Given the description of an element on the screen output the (x, y) to click on. 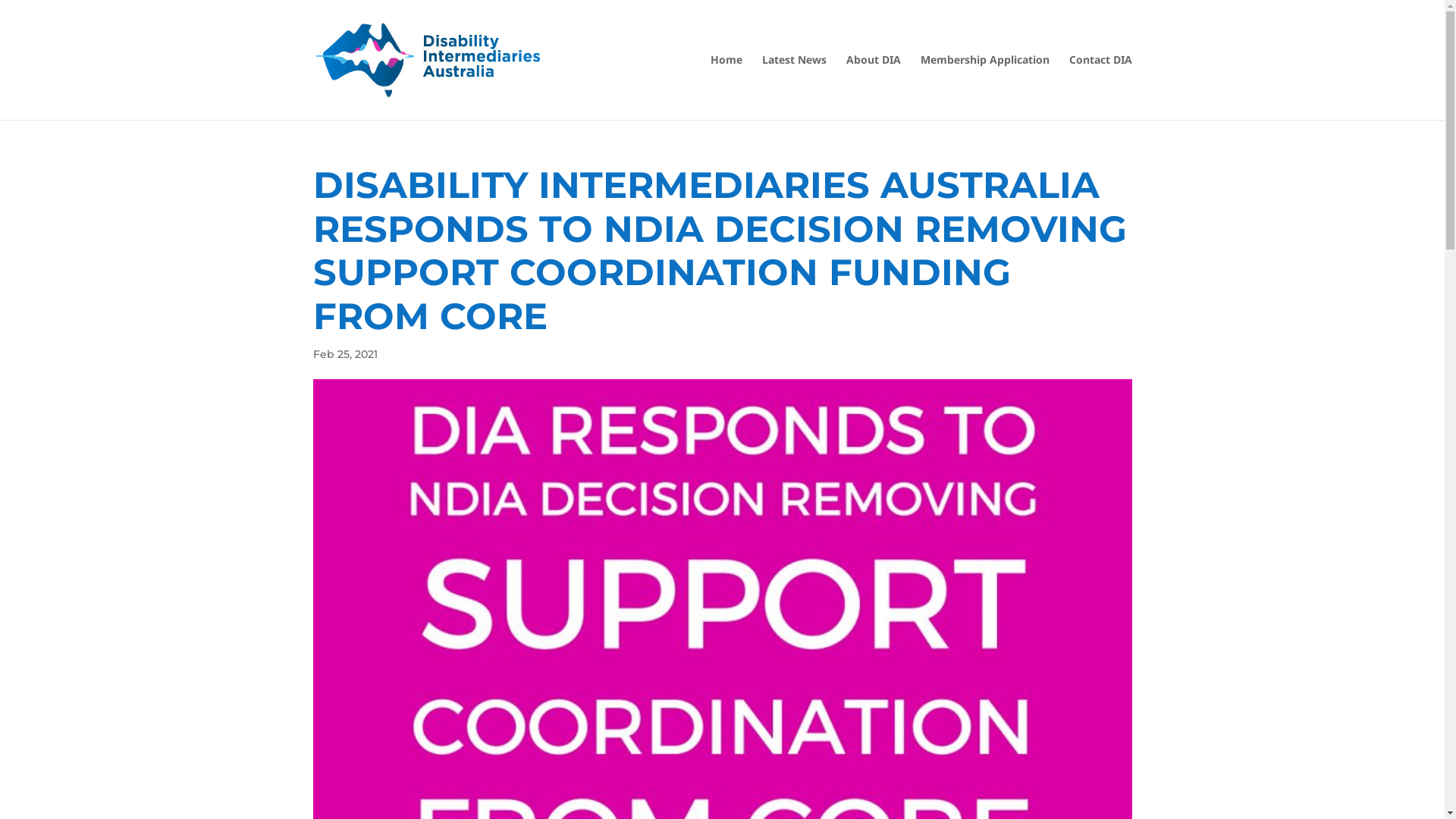
About DIA Element type: text (873, 86)
Latest News Element type: text (793, 86)
Membership Application Element type: text (984, 86)
Contact DIA Element type: text (1100, 86)
Home Element type: text (725, 86)
